Given the description of an element on the screen output the (x, y) to click on. 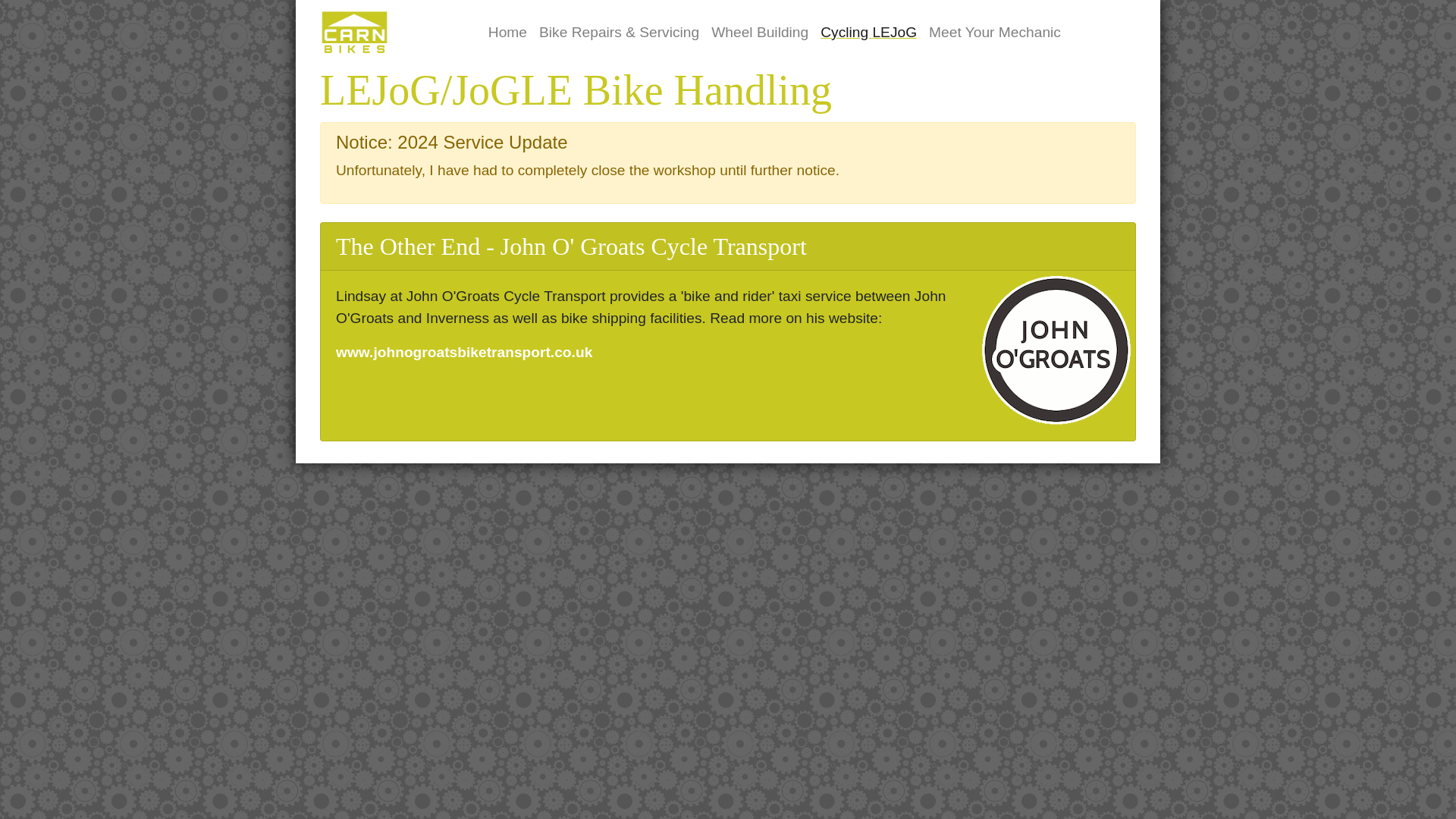
Wheel Building (758, 32)
Cycling LEJoG (868, 32)
Meet Your Mechanic (995, 32)
Home (506, 32)
www.johnogroatsbiketransport.co.uk (464, 351)
